Given the description of an element on the screen output the (x, y) to click on. 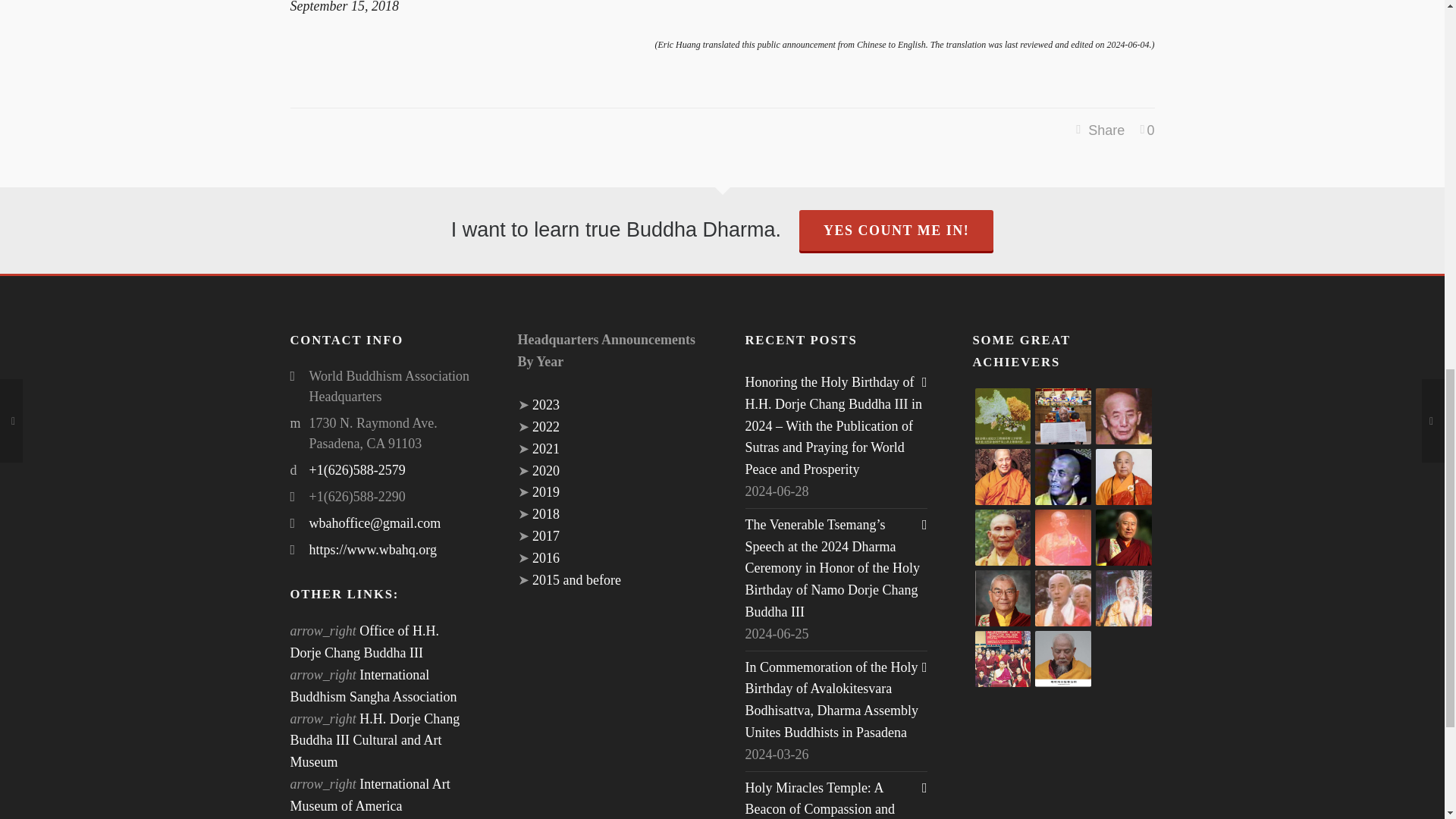
Venerable Dharma Teacher Tonghui (1123, 416)
Venerable Dharma Teacher Qingding (1002, 476)
Venerable Dharma Teacher Yongding (1062, 476)
Venerable Dharma Master Wuming (1123, 476)
Laymen Zhao Yusheng (1062, 416)
Venerable Dharma Teacher Puguan (1002, 537)
Layman Wang Ling-Ze and Laywoman Wang Cheng E-Feng (1002, 416)
